Given the description of an element on the screen output the (x, y) to click on. 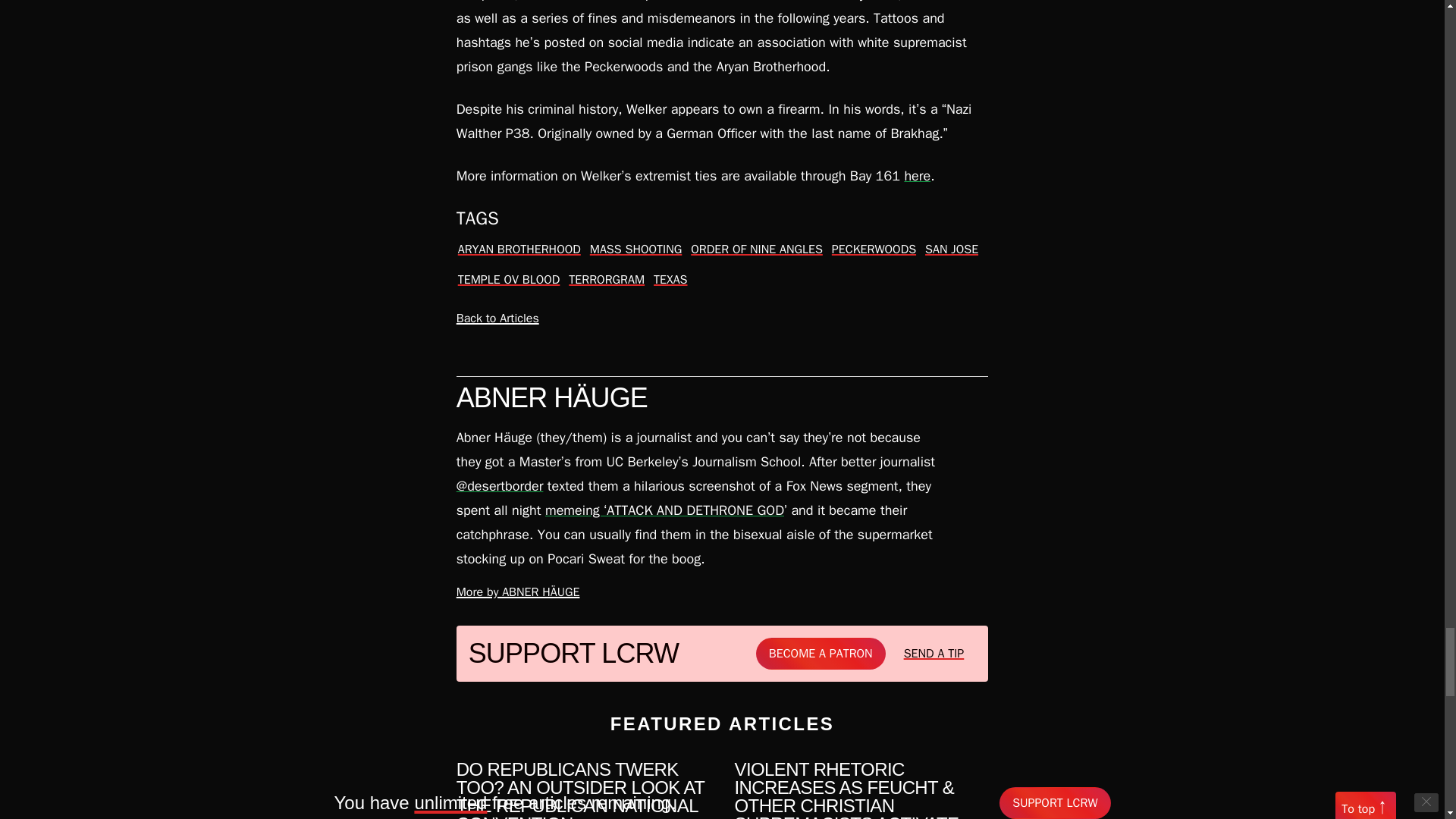
TEMPLE OV BLOOD (509, 279)
here (917, 175)
ARYAN BROTHERHOOD (519, 249)
TERRORGRAM (606, 279)
TEXAS (670, 279)
PECKERWOODS (873, 249)
MASS SHOOTING (635, 249)
ORDER OF NINE ANGLES (756, 249)
BECOME A PATRON (820, 653)
SEND A TIP (933, 653)
Back to Articles (722, 318)
SAN JOSE (951, 249)
